Given the description of an element on the screen output the (x, y) to click on. 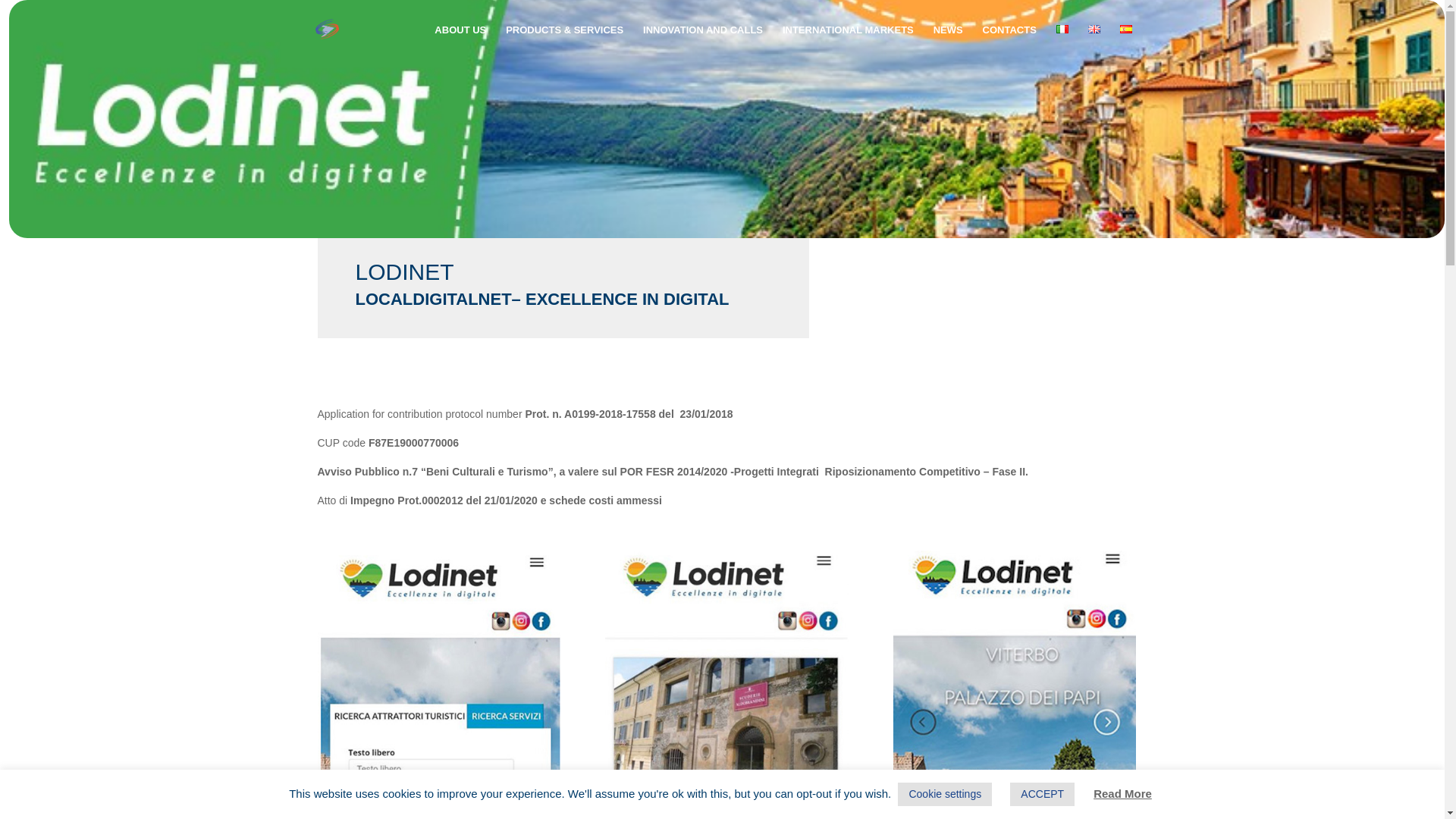
CONTACTS (1009, 42)
INTERNATIONAL MARKETS (848, 42)
Lodinet-palazzo (1014, 684)
ABOUT US (459, 42)
INNOVATION AND CALLS (702, 42)
lodinet3 (438, 684)
Lodinet1 (726, 684)
Read More (1122, 793)
ACCEPT (1042, 793)
Cookie settings (944, 793)
